Given the description of an element on the screen output the (x, y) to click on. 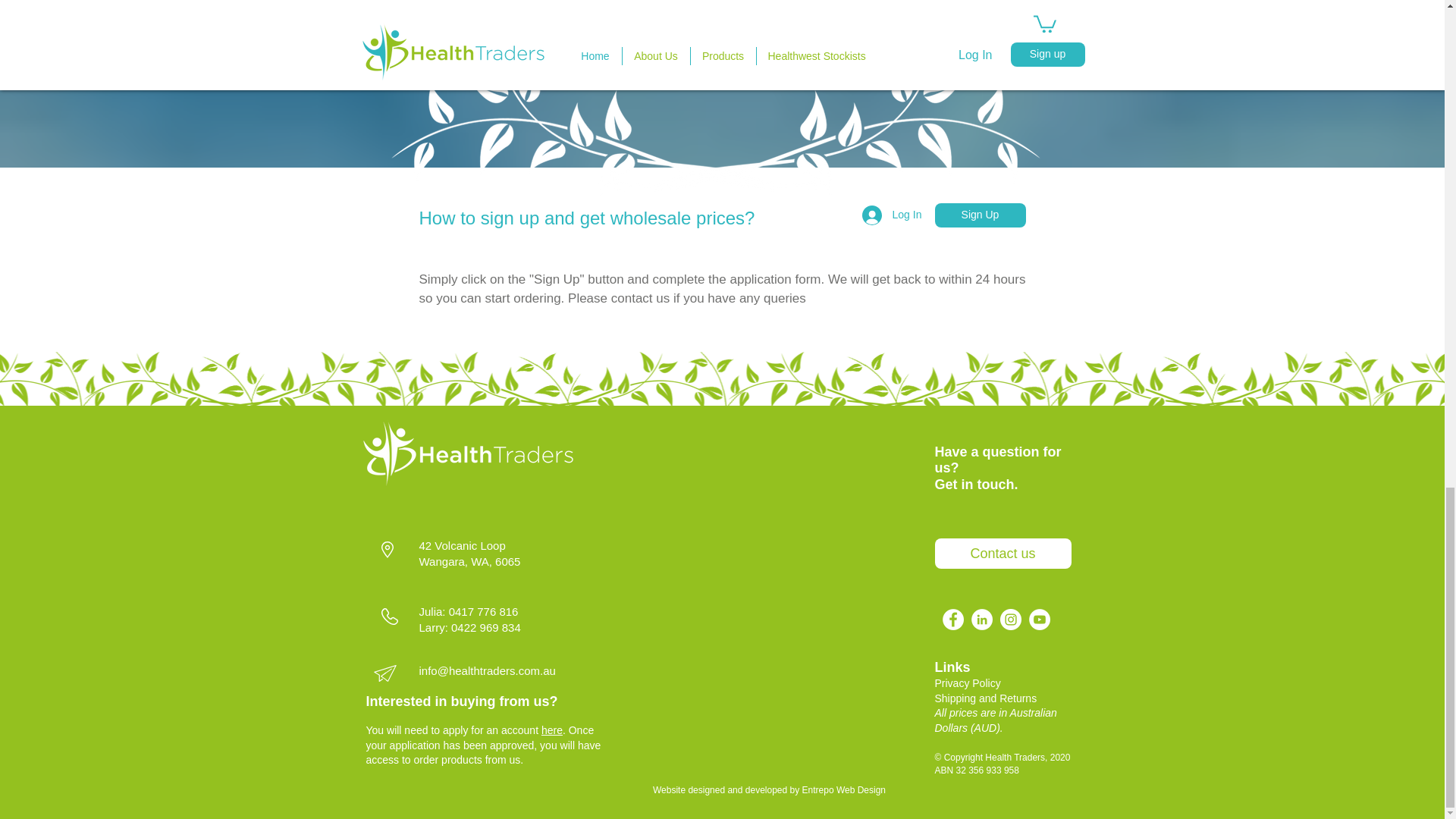
0422 969 834 (486, 626)
Sign Up (979, 215)
0417 776 816 (483, 611)
here (551, 729)
Log In (882, 215)
Contact us (1002, 553)
